Given the description of an element on the screen output the (x, y) to click on. 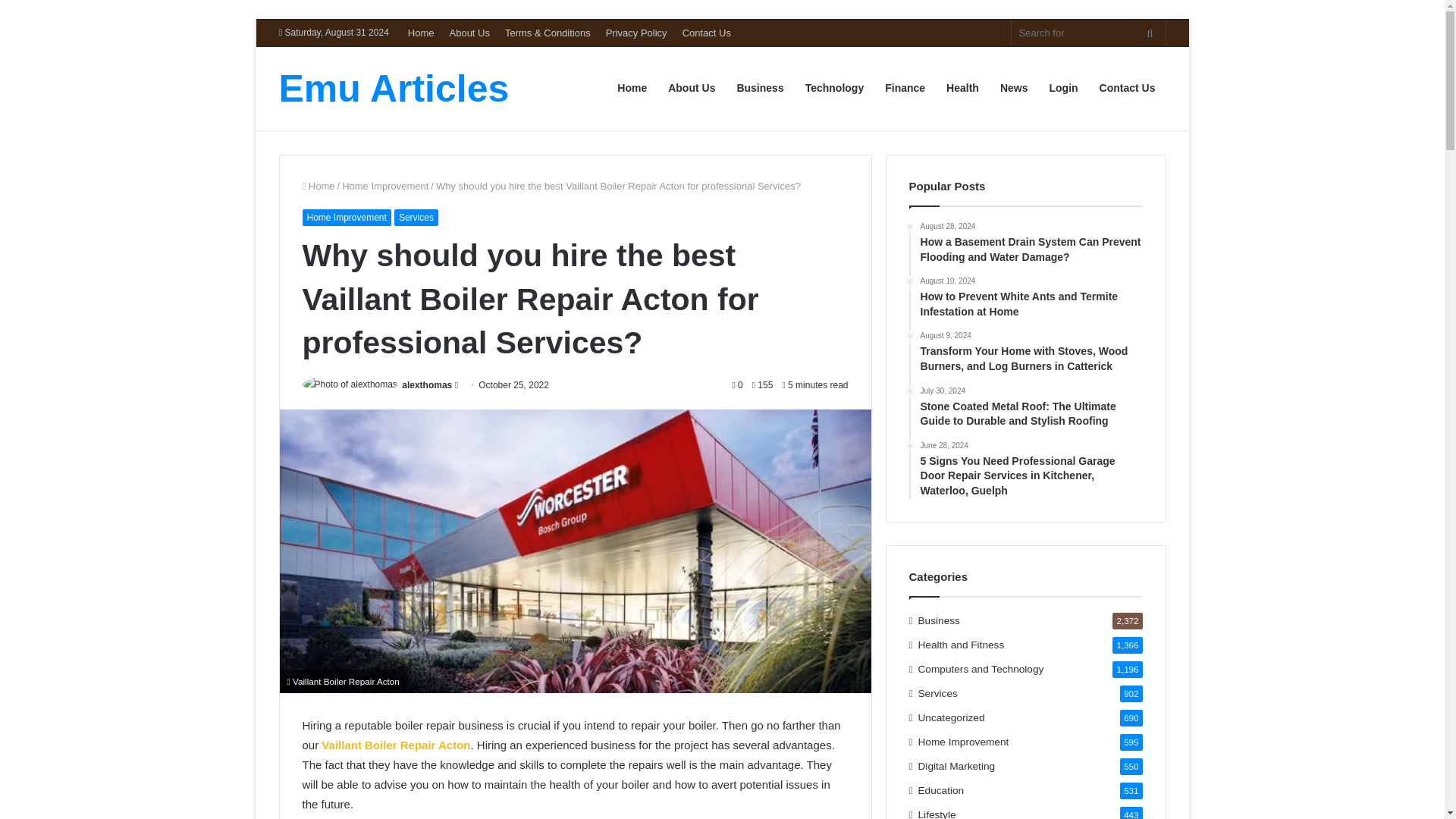
About Us (468, 32)
Search for (1088, 32)
Contact Us (706, 32)
Home (421, 32)
alexthomas (426, 385)
Home (317, 185)
Emu Articles (394, 88)
Home Improvement (345, 217)
Privacy Policy (636, 32)
Vaillant Boiler Repair Acton (395, 744)
